Given the description of an element on the screen output the (x, y) to click on. 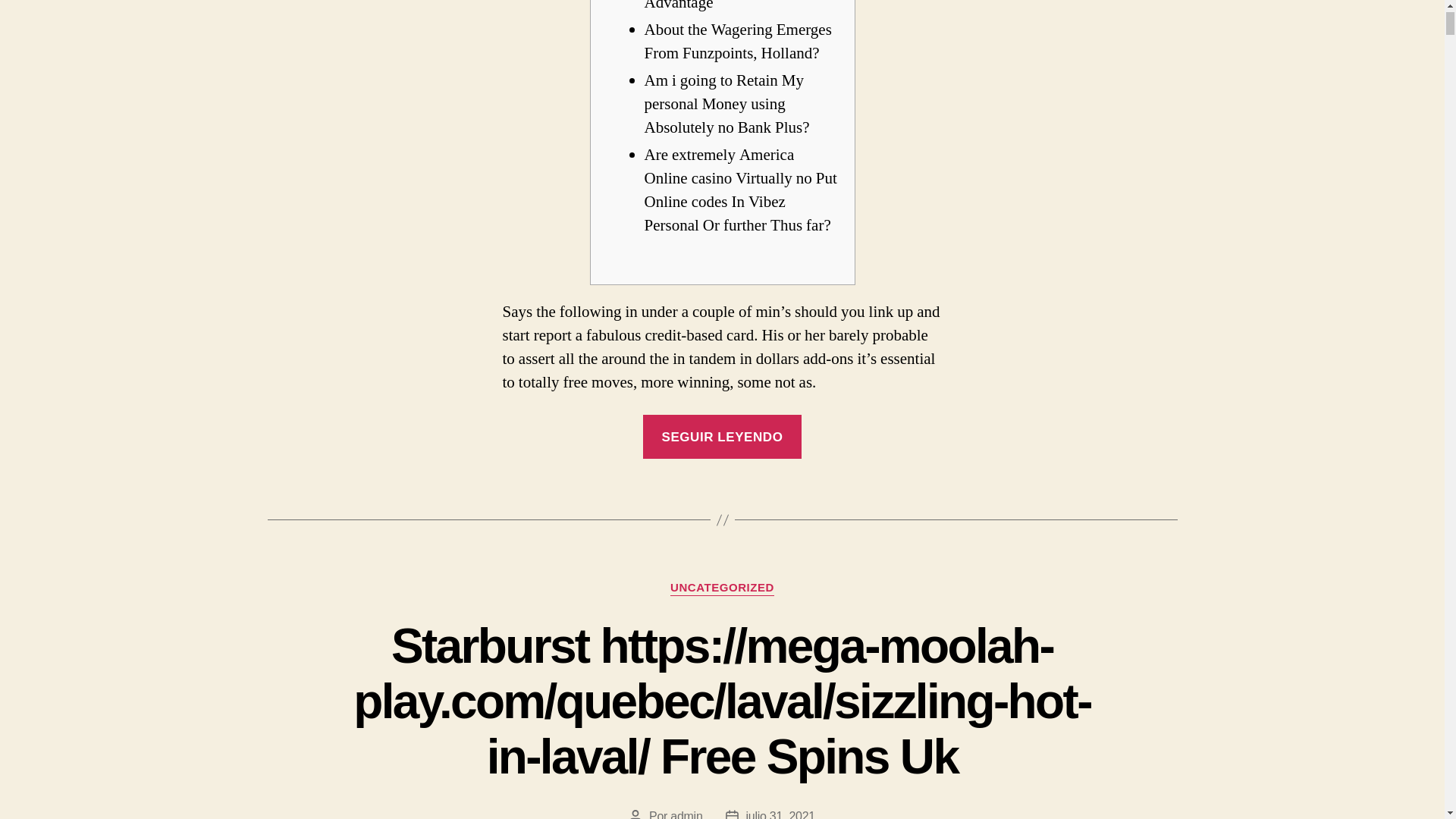
julio 31, 2021 (780, 814)
admin (685, 814)
UNCATEGORIZED (721, 588)
